Given the description of an element on the screen output the (x, y) to click on. 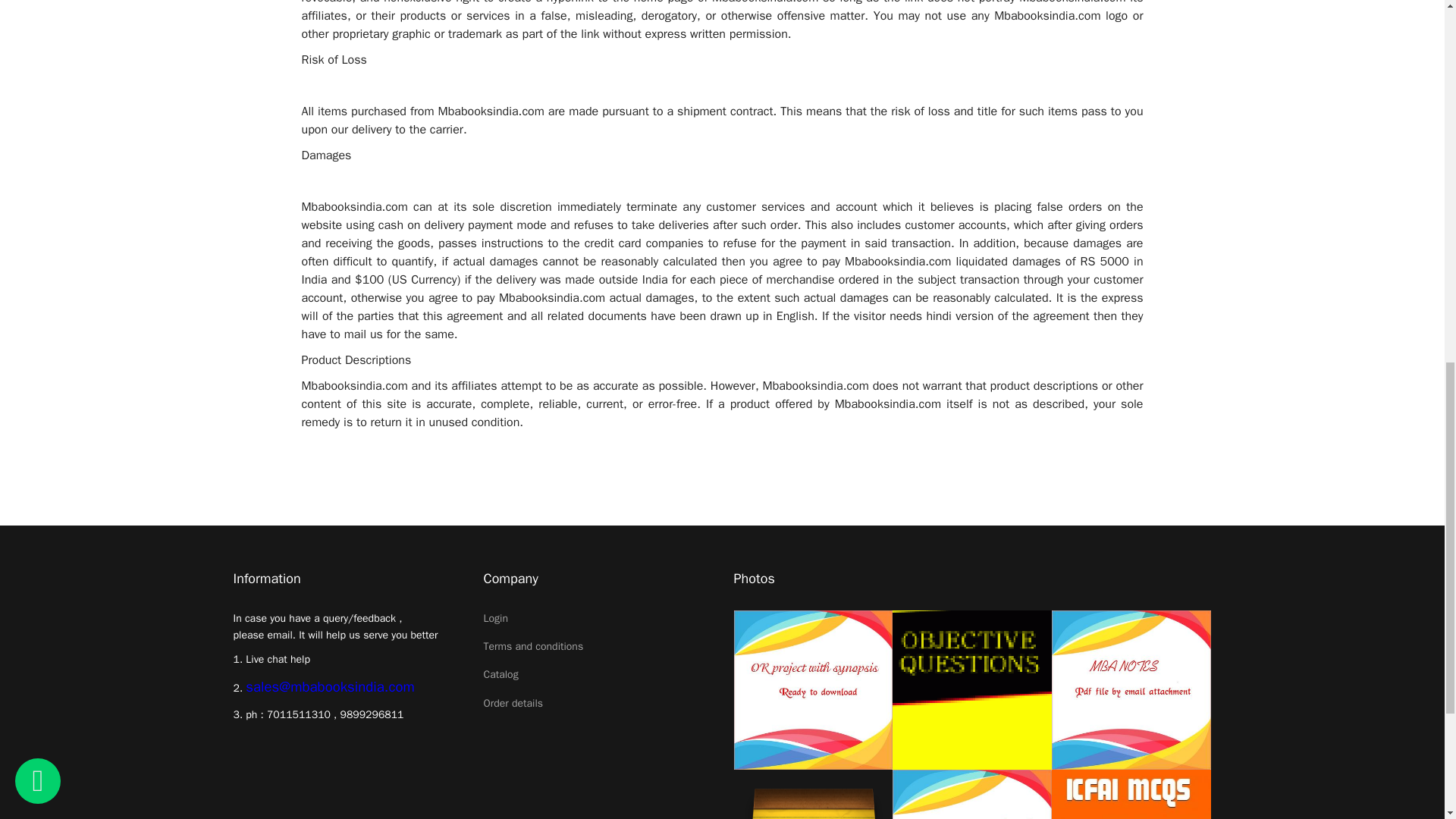
Orproject (813, 689)
Mbanotespdf (1131, 689)
Icfai (1131, 794)
Objective (971, 689)
Mcqsmembership (971, 794)
Notes2 (813, 794)
